Given the description of an element on the screen output the (x, y) to click on. 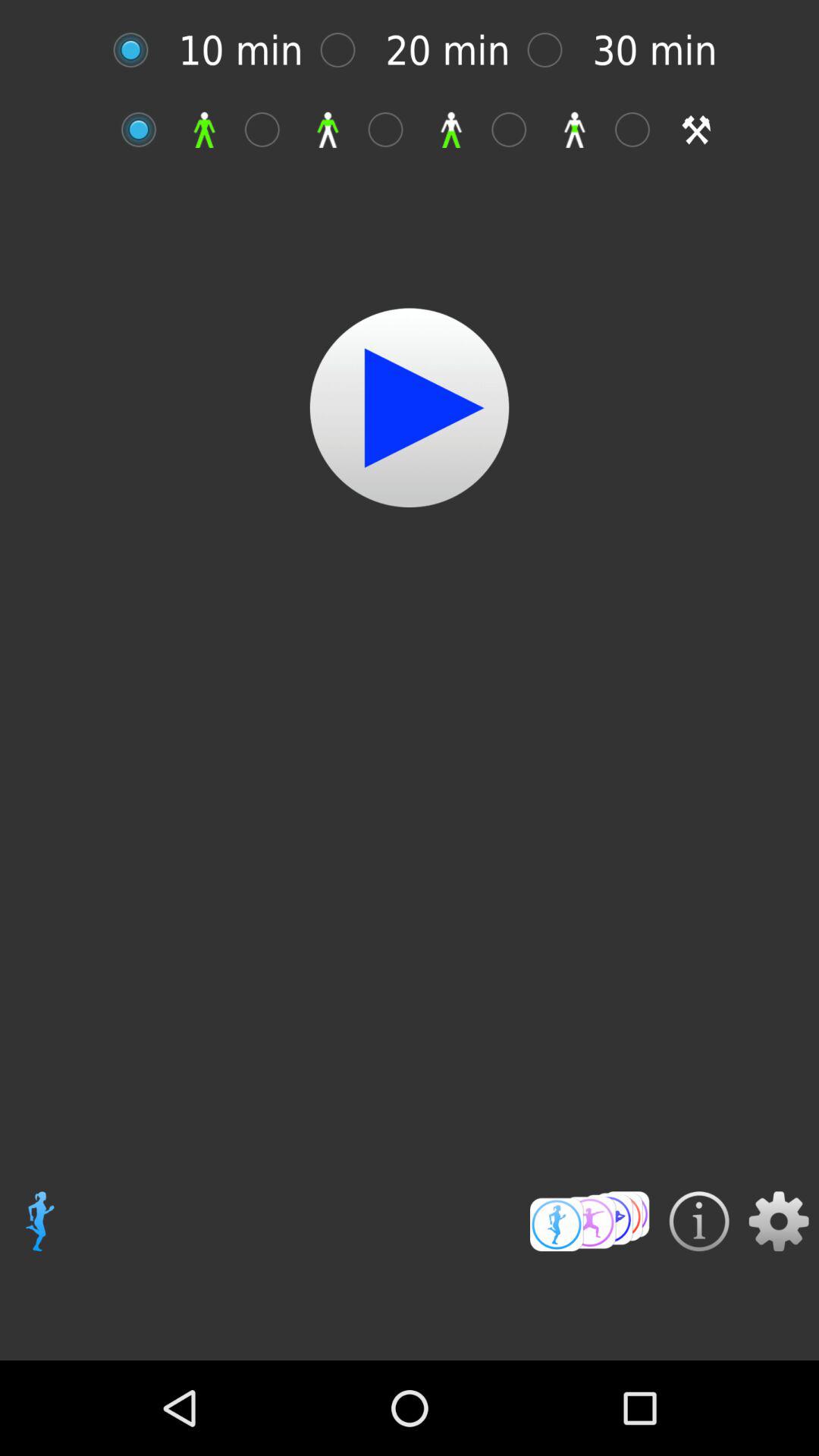
select option (269, 129)
